Given the description of an element on the screen output the (x, y) to click on. 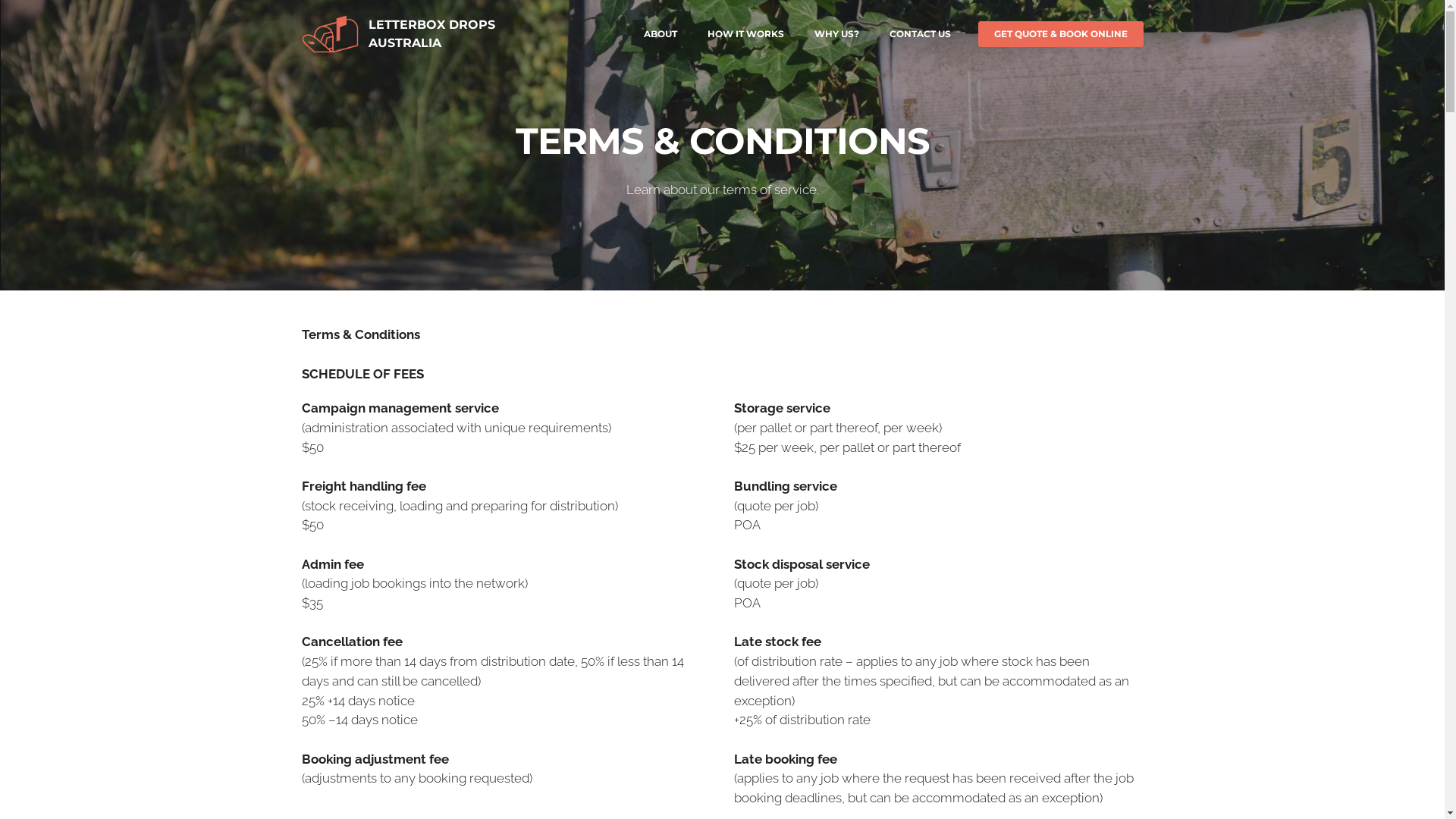
CONTACT US Element type: text (919, 33)
ABOUT Element type: text (659, 33)
LETTERBOX DROPS
AUSTRALIA Element type: text (431, 33)
WHY US? Element type: text (836, 33)
HOW IT WORKS Element type: text (744, 33)
GET QUOTE & BOOK ONLINE Element type: text (1060, 34)
